Given the description of an element on the screen output the (x, y) to click on. 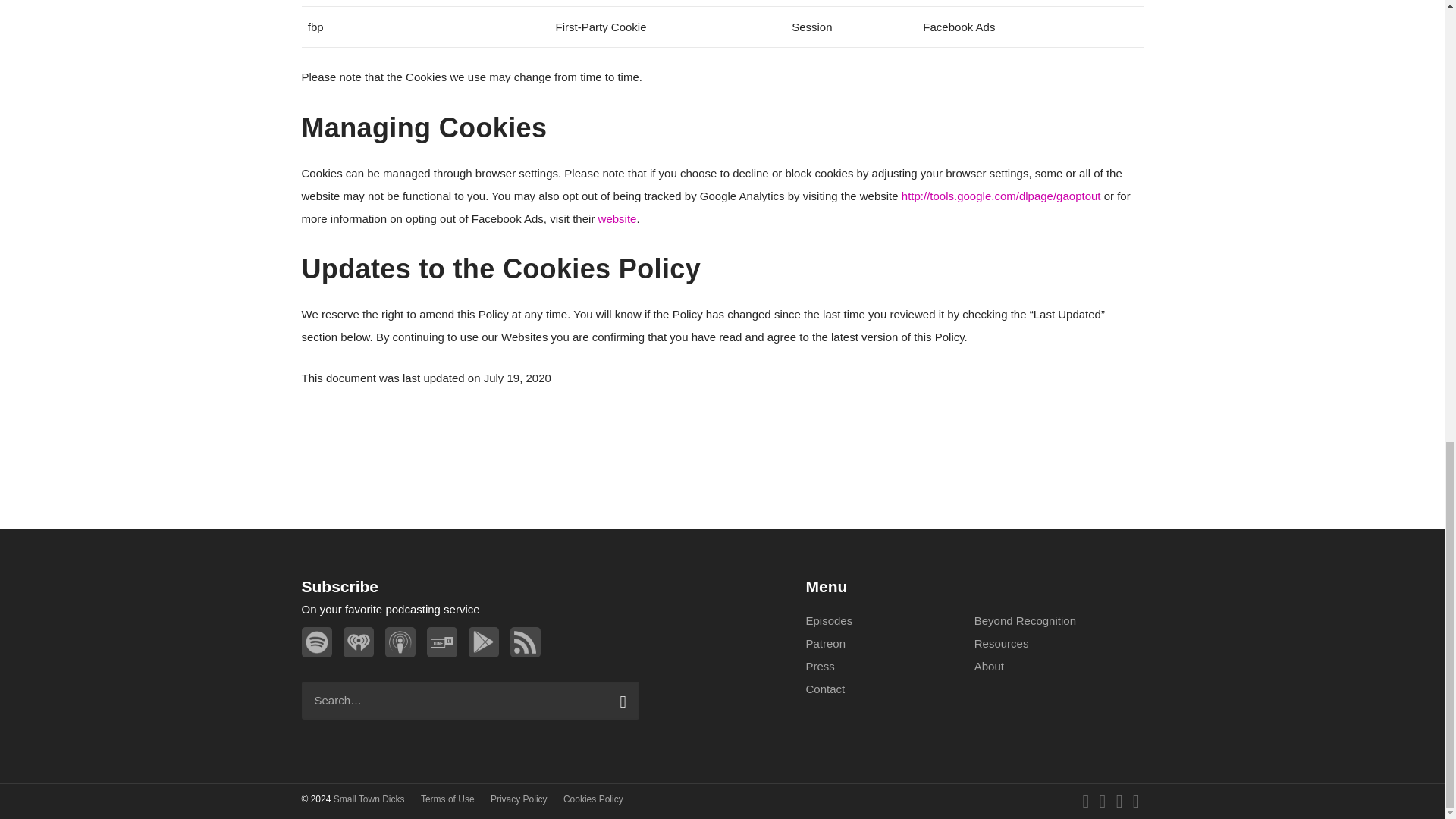
Beyond Recognition (1024, 620)
About (989, 666)
Patreon (825, 643)
Contact (824, 688)
Resources (1001, 643)
website (617, 218)
Press (819, 666)
Episodes (828, 620)
